Given the description of an element on the screen output the (x, y) to click on. 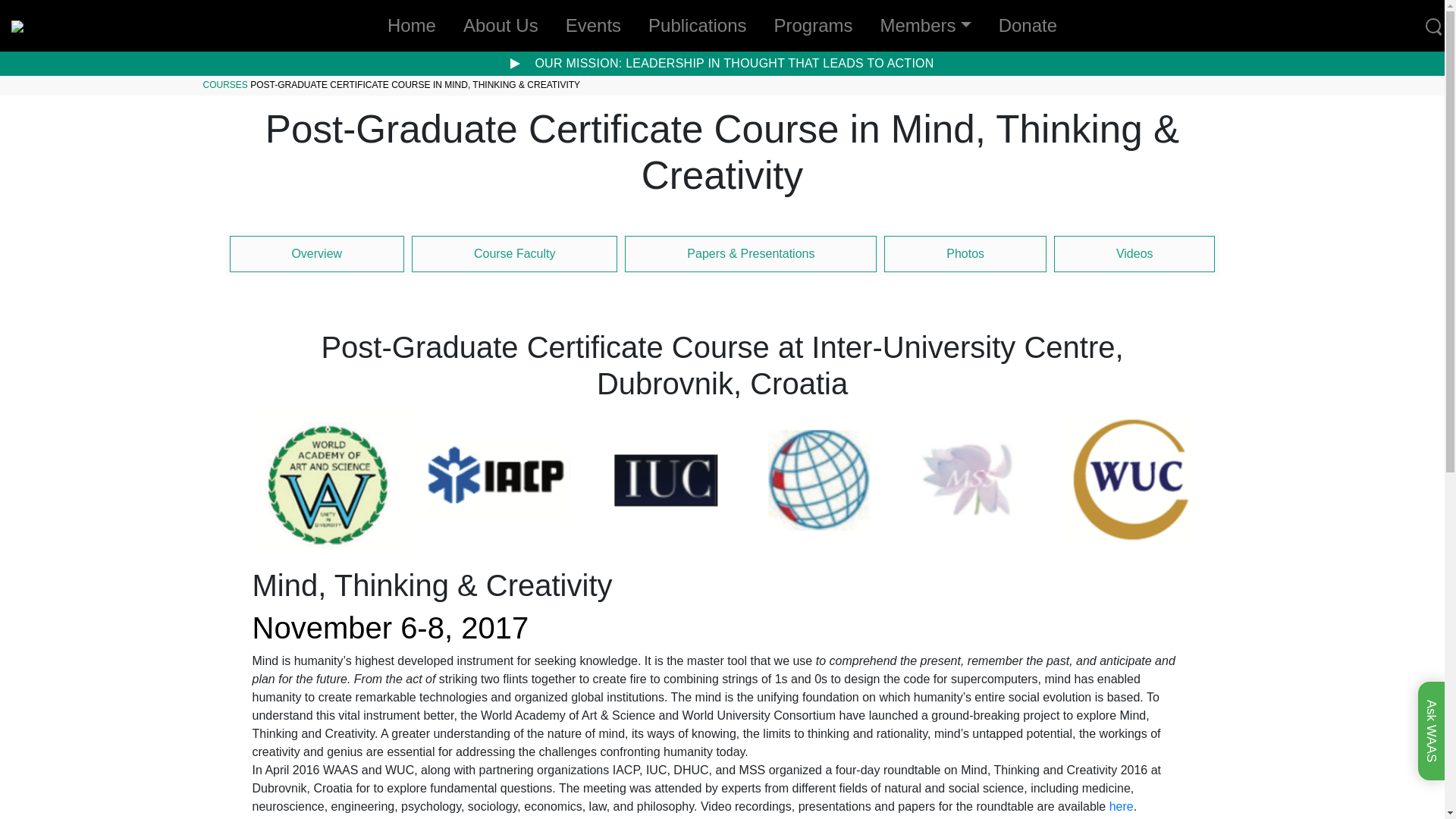
Videos (1134, 253)
Programs (813, 25)
About Us (500, 25)
here (1121, 806)
Publications (697, 25)
Events (593, 25)
Home (411, 25)
Members (925, 25)
Photos (964, 253)
COURSES (225, 84)
Course Faculty (514, 253)
Donate (1027, 25)
Overview (316, 253)
